Given the description of an element on the screen output the (x, y) to click on. 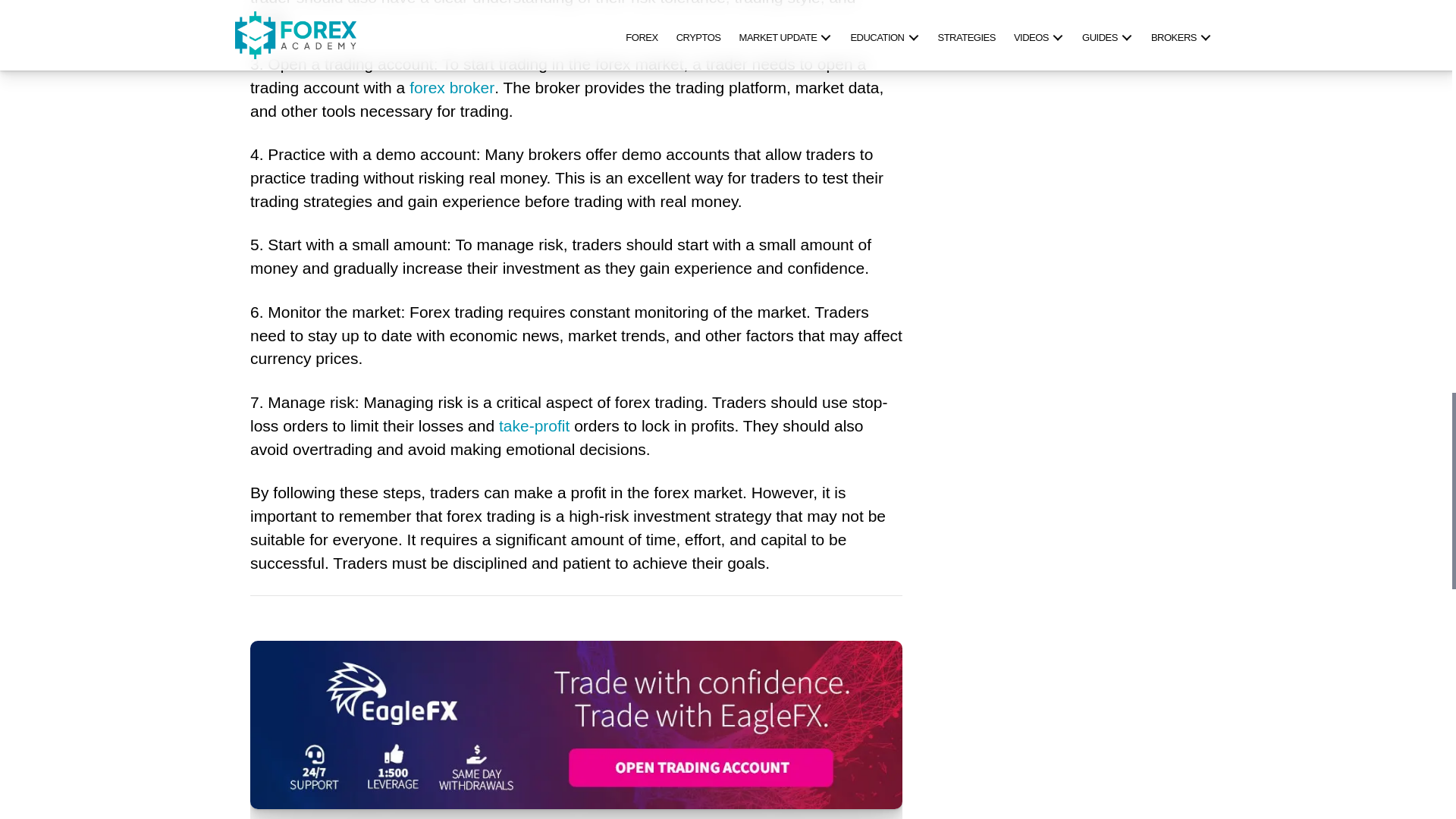
take-profit (534, 426)
forex broker (452, 87)
